Given the description of an element on the screen output the (x, y) to click on. 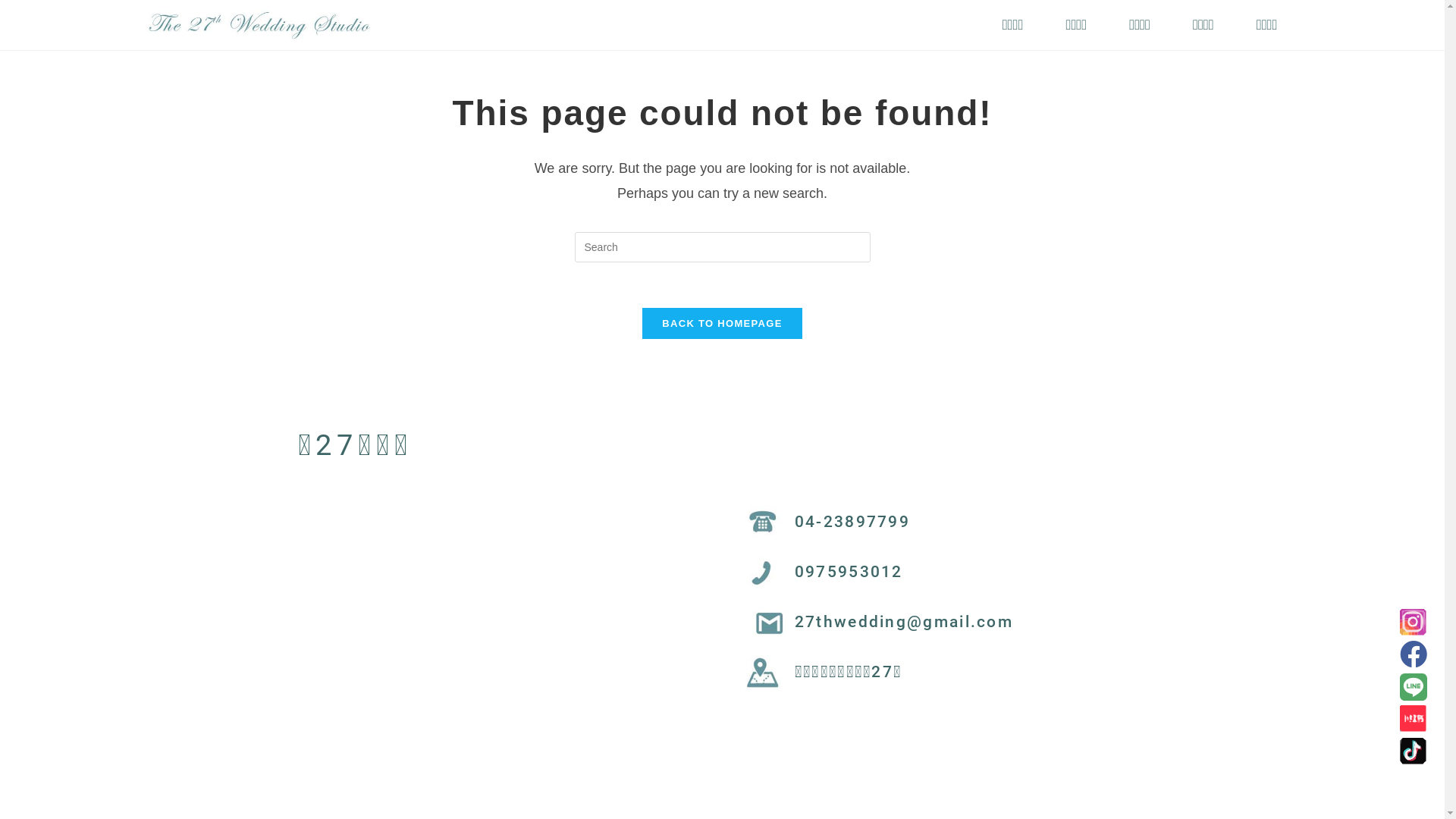
04-23897799 Element type: text (852, 521)
BACK TO HOMEPAGE Element type: text (721, 322)
0975953012 Element type: text (848, 571)
